Given the description of an element on the screen output the (x, y) to click on. 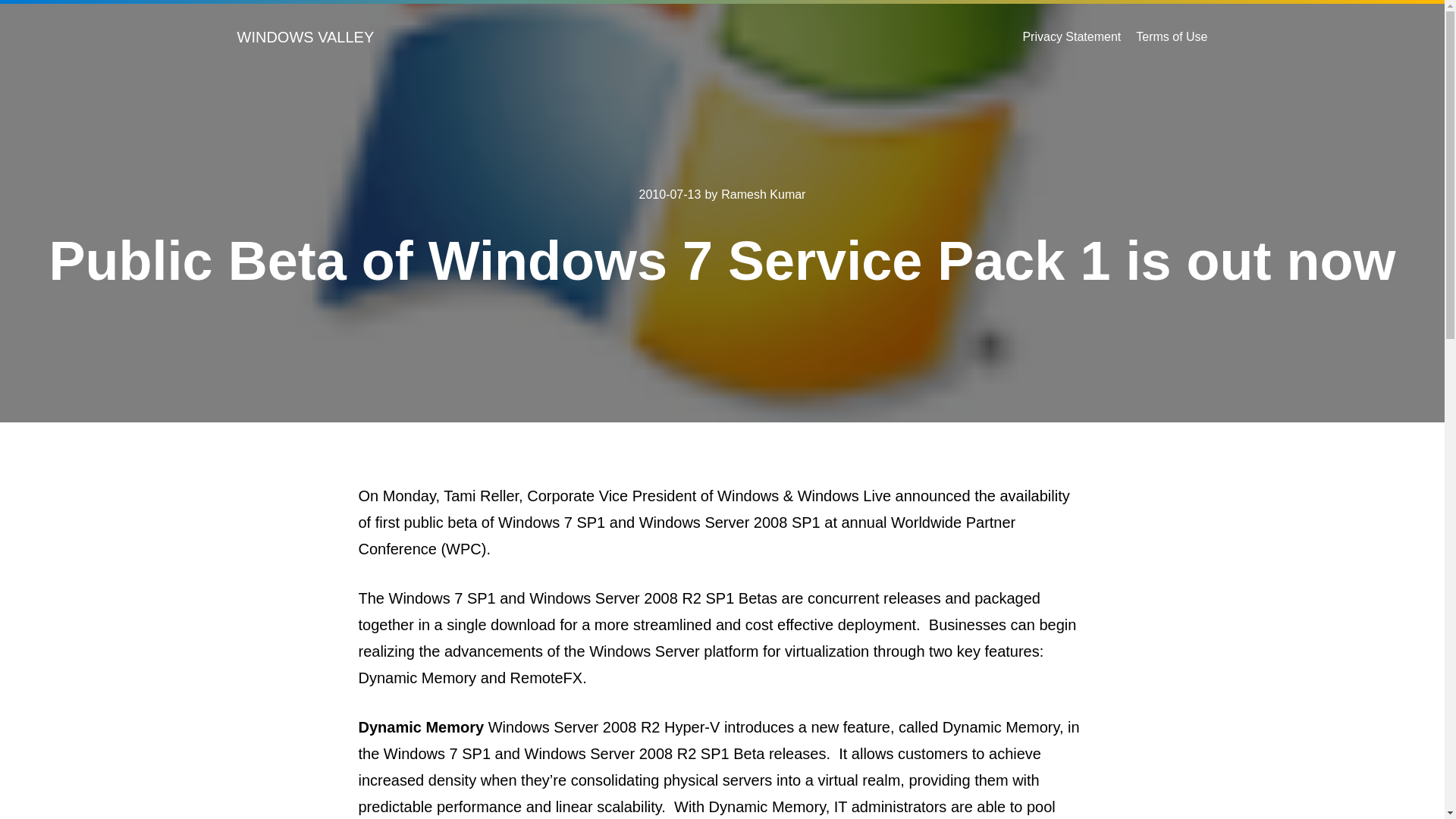
WINDOWS VALLEY (304, 36)
Terms of Use (1171, 36)
Privacy Statement (1071, 36)
